Given the description of an element on the screen output the (x, y) to click on. 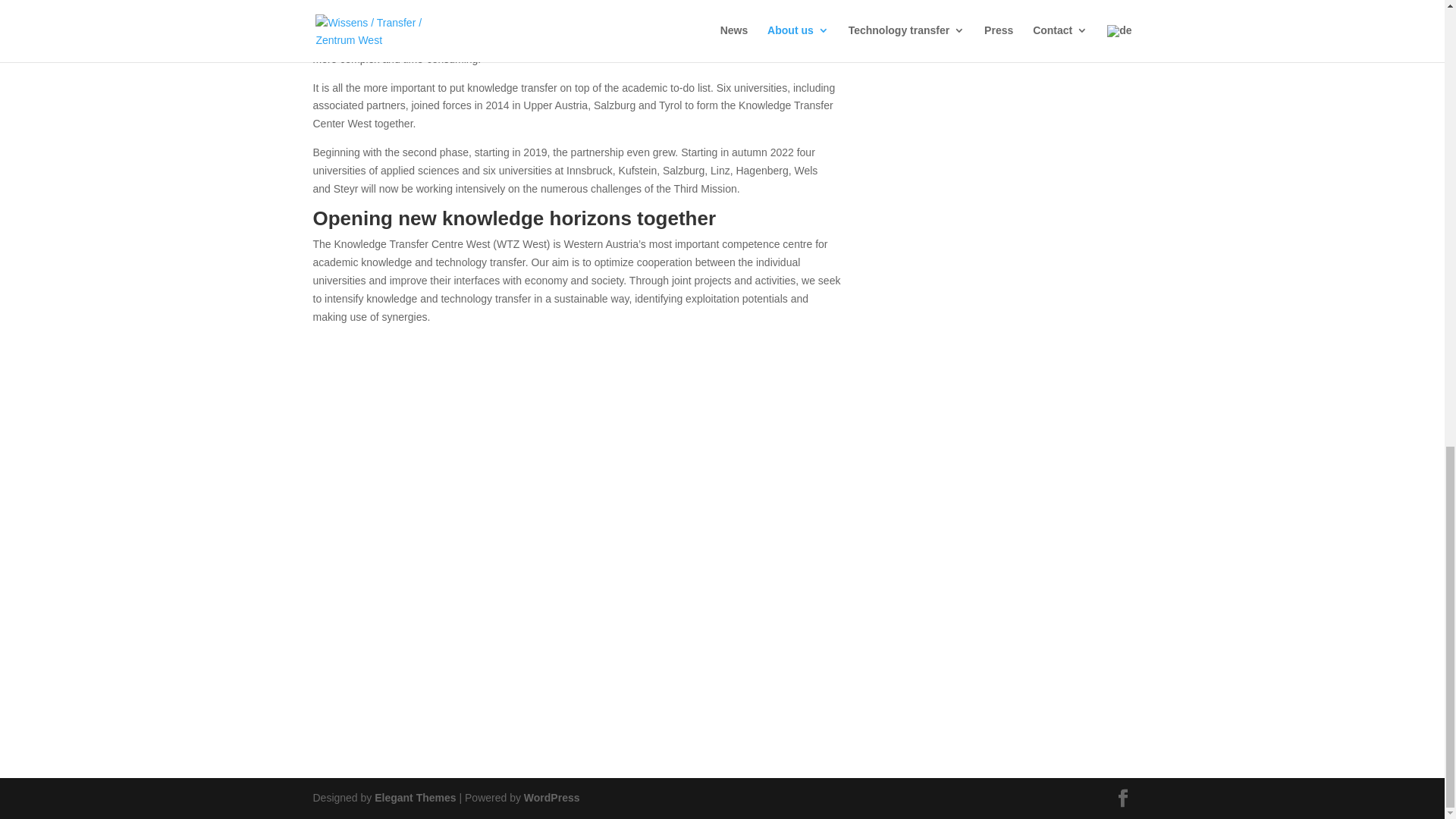
Premium WordPress Themes (414, 797)
Elegant Themes (414, 797)
WordPress (551, 797)
